Given the description of an element on the screen output the (x, y) to click on. 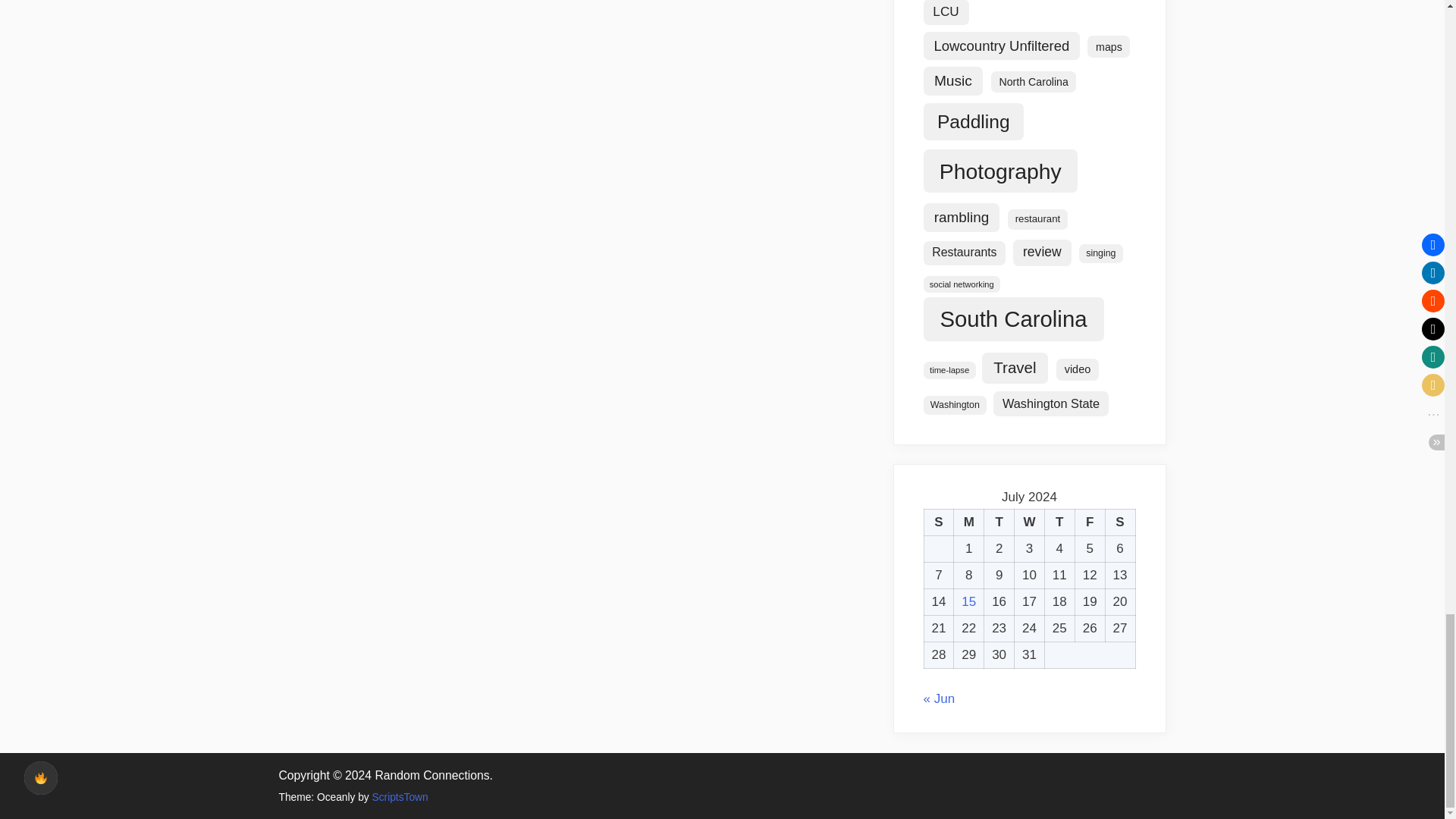
Monday (968, 522)
Saturday (1120, 522)
Wednesday (1029, 522)
Thursday (1058, 522)
Friday (1089, 522)
Tuesday (999, 522)
Sunday (938, 522)
